Given the description of an element on the screen output the (x, y) to click on. 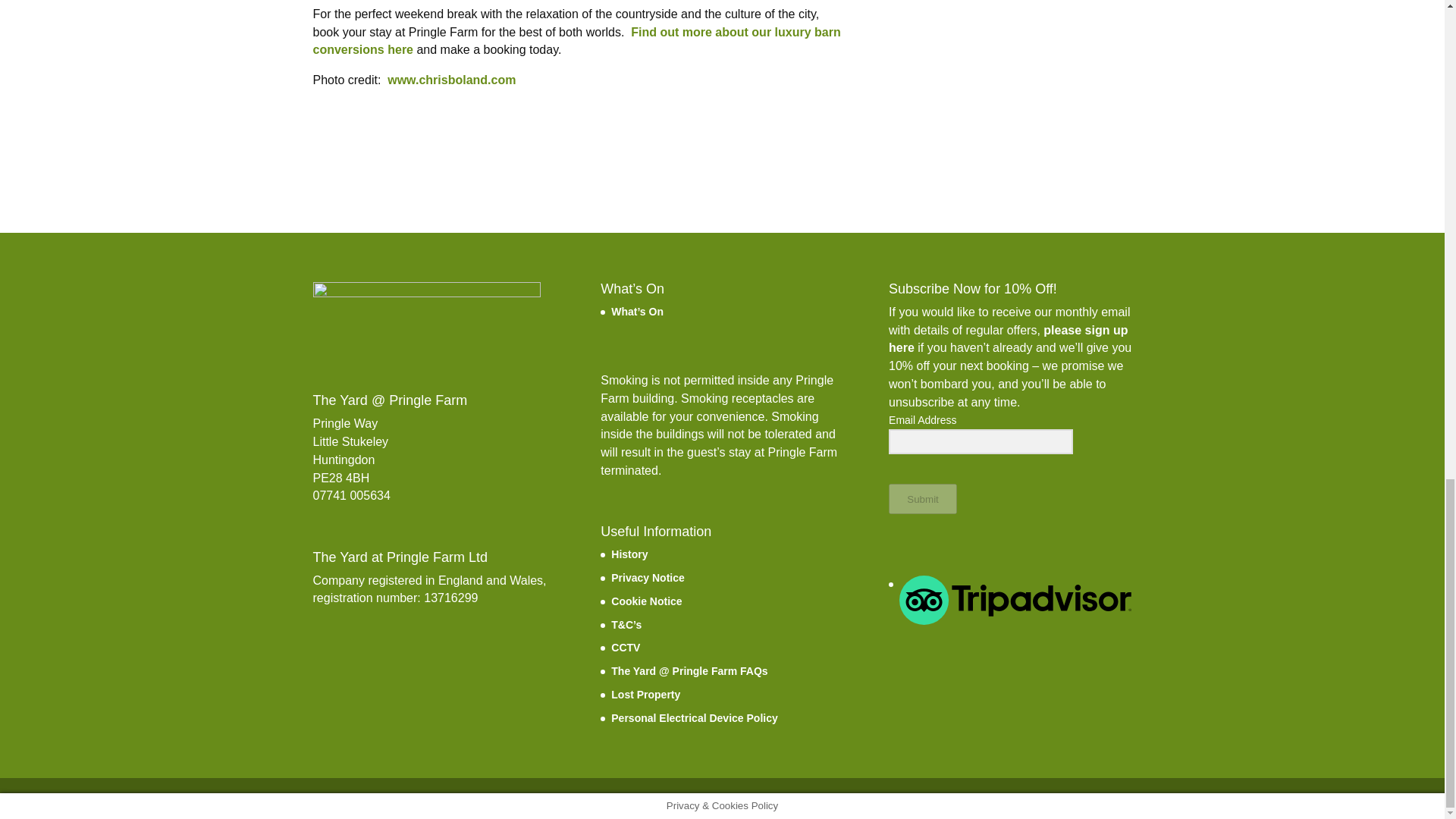
Lost Property (645, 694)
Cookie Notice (646, 601)
Submit (922, 499)
Privacy Notice (647, 577)
www.chrisboland.com (451, 79)
History (629, 553)
CCTV (625, 647)
Find out more about our luxury barn conversions here (576, 40)
Personal Electrical Device Policy (694, 717)
